Given the description of an element on the screen output the (x, y) to click on. 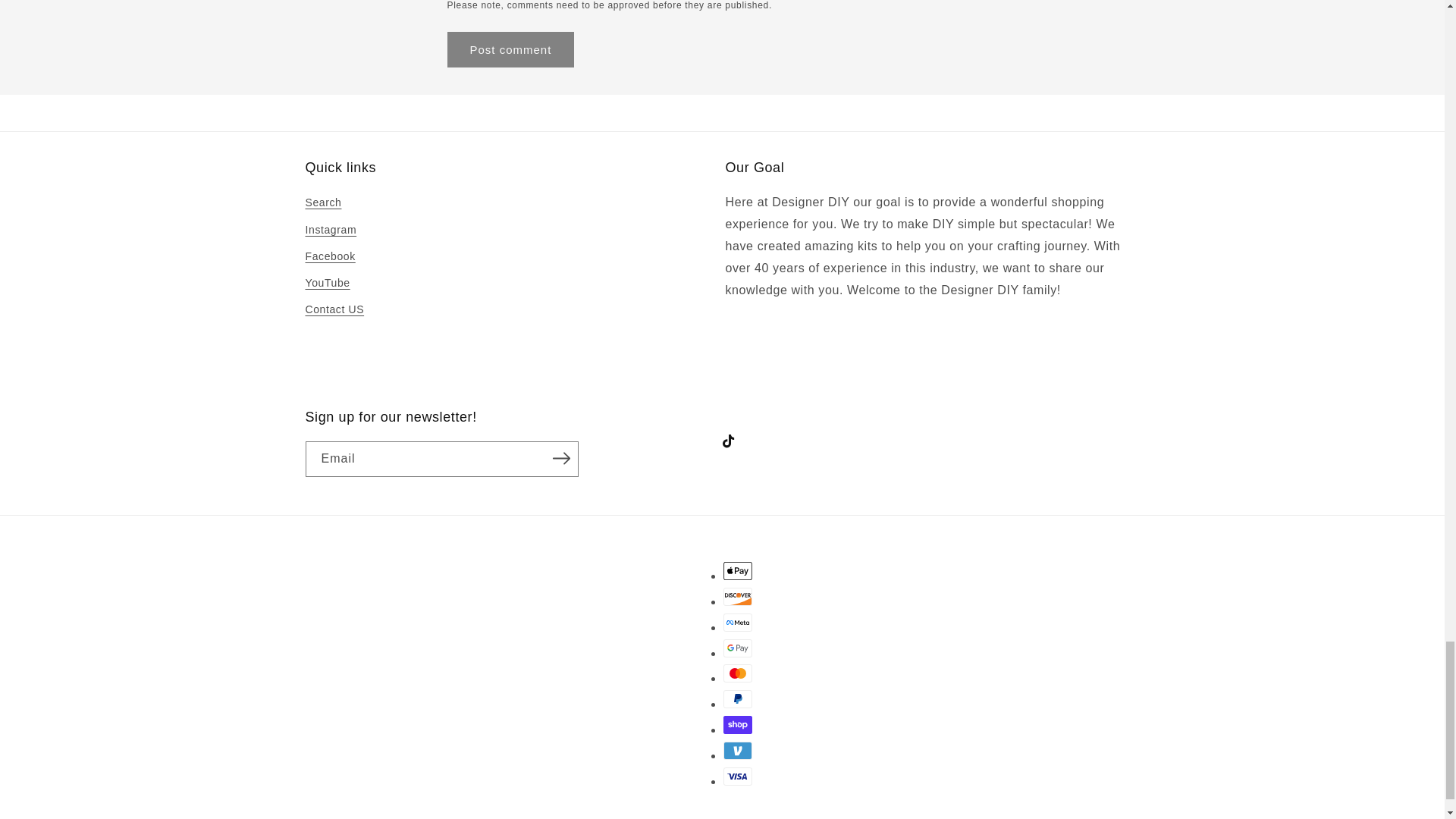
Discover (737, 597)
Meta Pay (737, 622)
Apple Pay (737, 570)
Google Pay (737, 648)
Visa (737, 776)
Venmo (737, 751)
PayPal (737, 699)
Shop Pay (737, 724)
Mastercard (737, 673)
Post comment (510, 49)
